Given the description of an element on the screen output the (x, y) to click on. 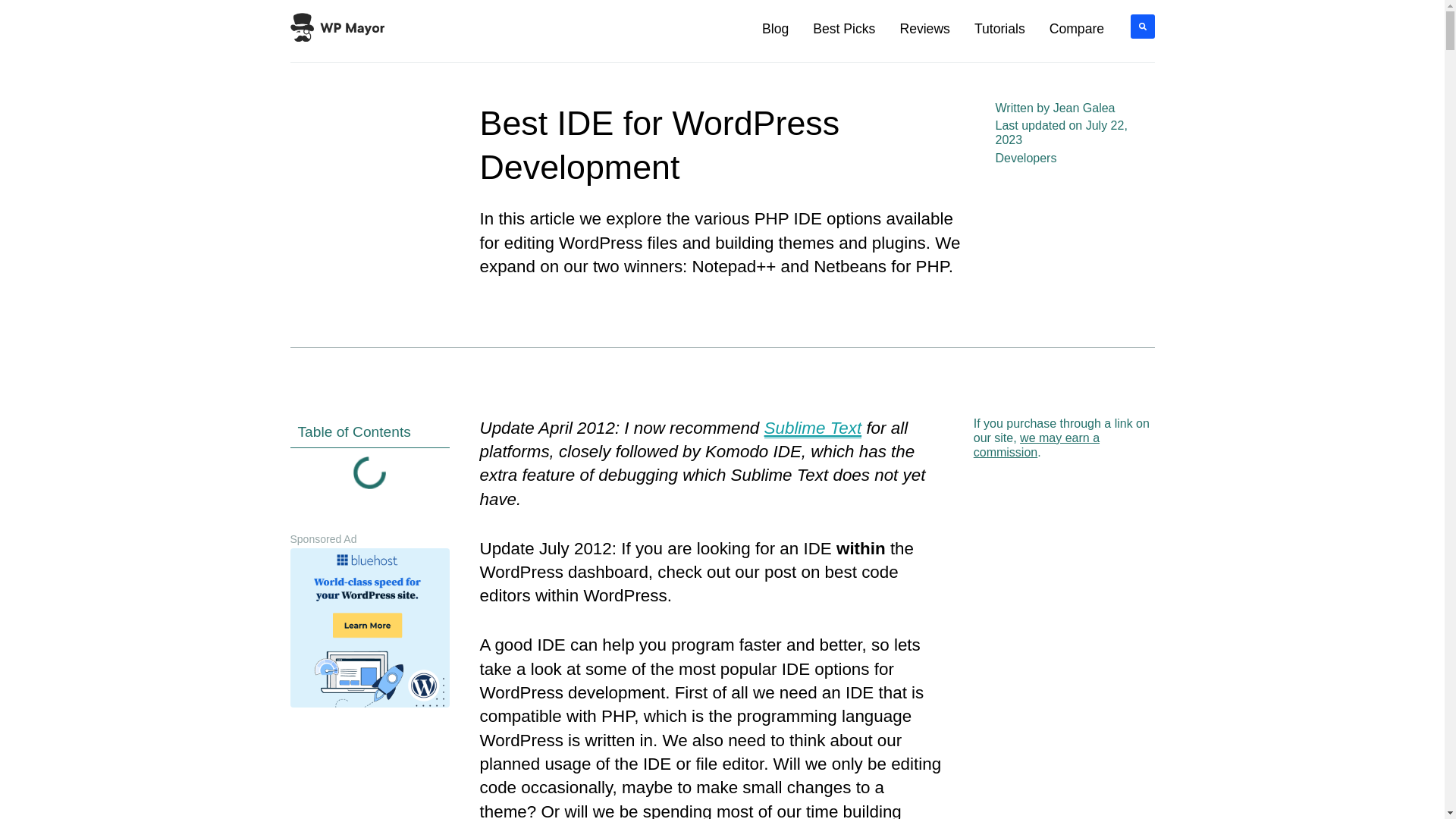
we may earn a commission (1036, 444)
Developers (1025, 157)
Blog (774, 28)
Compare (1076, 28)
Sublime Text (812, 428)
Best Picks (843, 28)
Reviews (924, 28)
Written by Jean Galea (1054, 107)
Tutorials (999, 28)
